Given the description of an element on the screen output the (x, y) to click on. 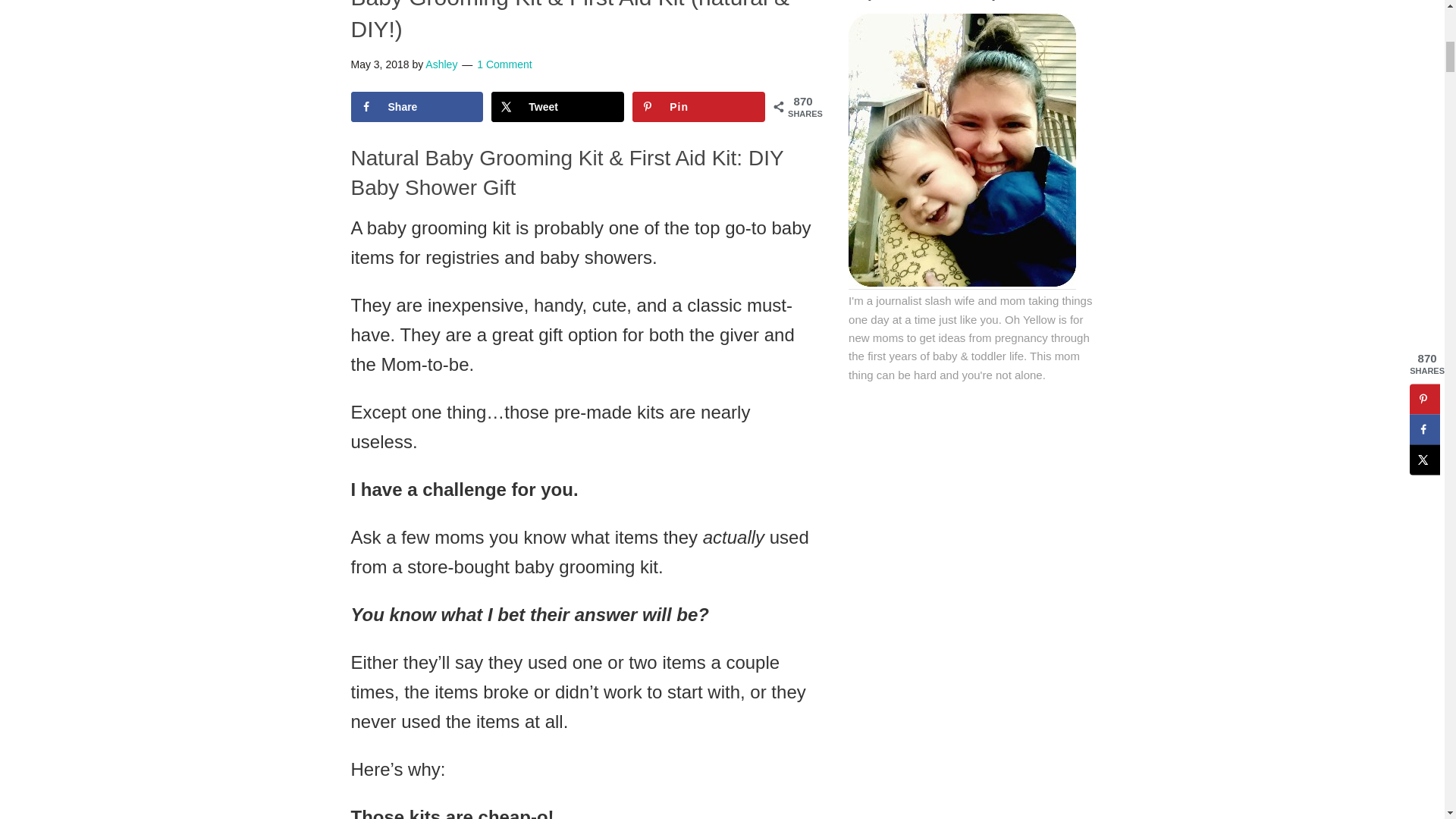
Thursday, May 3, 2018, 3:08 pm (379, 64)
Share on Facebook (416, 106)
Save to Pinterest (698, 106)
Posts by Ashley (441, 64)
1 Comment (504, 64)
Tweet (558, 106)
Share (416, 106)
Pin (698, 106)
Share on X (558, 106)
Ashley (441, 64)
